Given the description of an element on the screen output the (x, y) to click on. 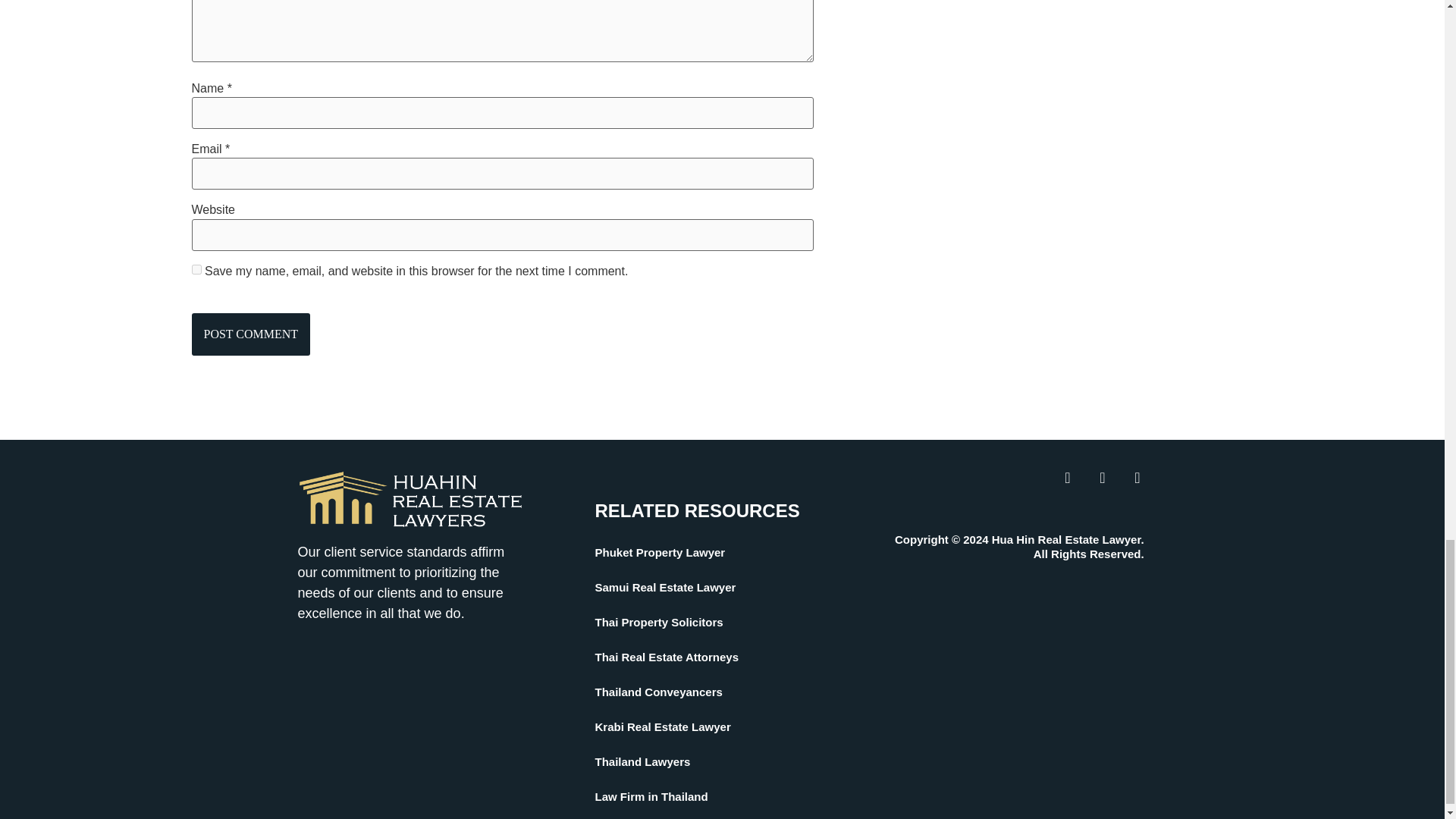
Post Comment (250, 333)
yes (195, 269)
Post Comment (250, 333)
